Given the description of an element on the screen output the (x, y) to click on. 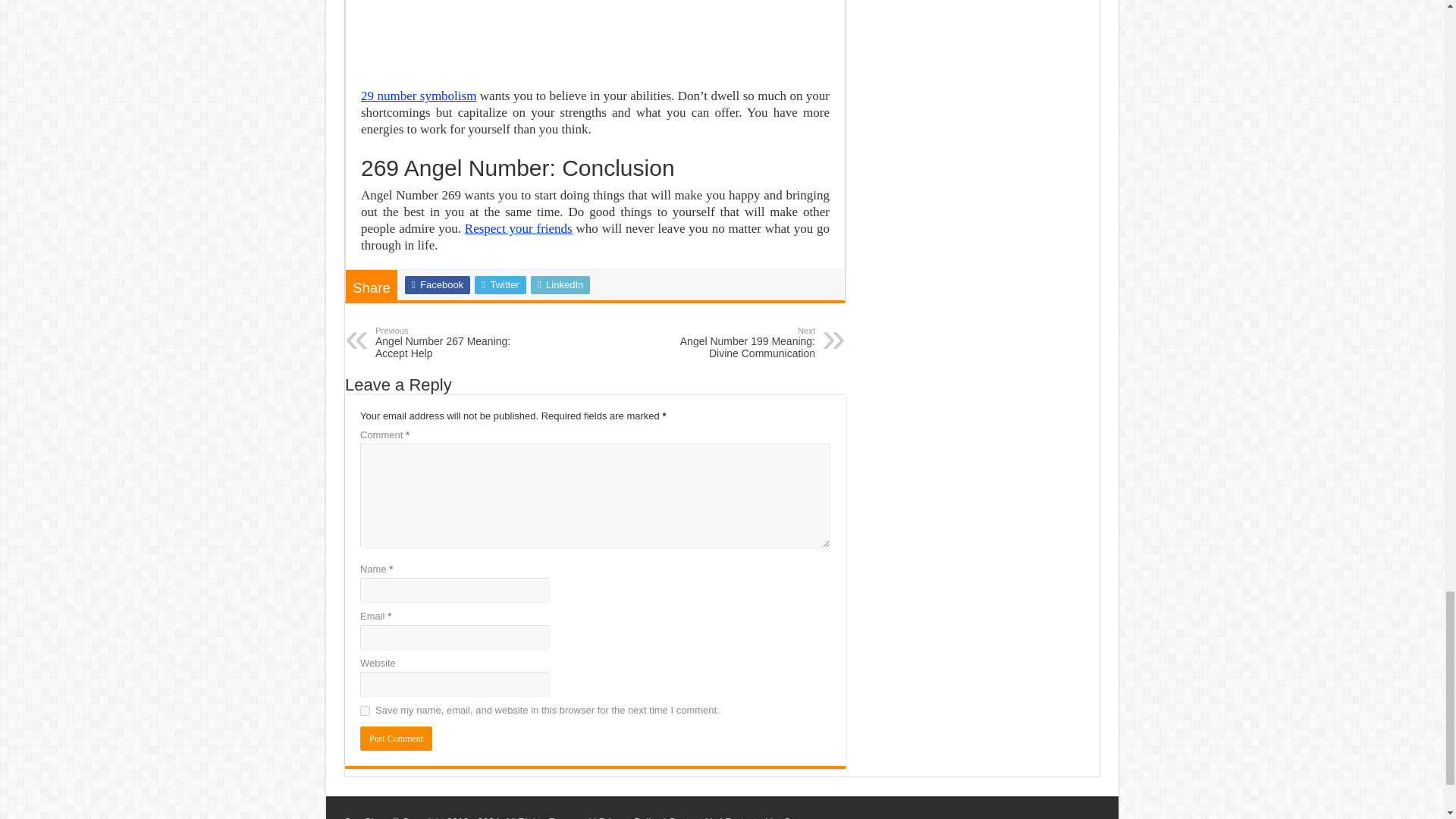
Advertisement (595, 36)
yes (364, 710)
Respect your friends (518, 228)
29 number symbolism (418, 95)
LinkedIn (561, 285)
Twitter (499, 285)
Post Comment (395, 738)
Facebook (437, 285)
